Given the description of an element on the screen output the (x, y) to click on. 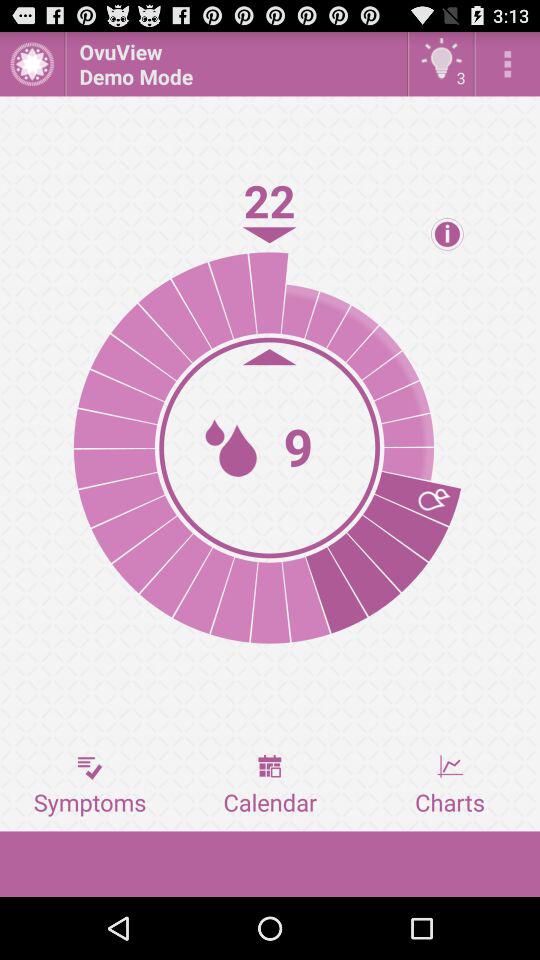
jump to the symptoms (90, 785)
